Given the description of an element on the screen output the (x, y) to click on. 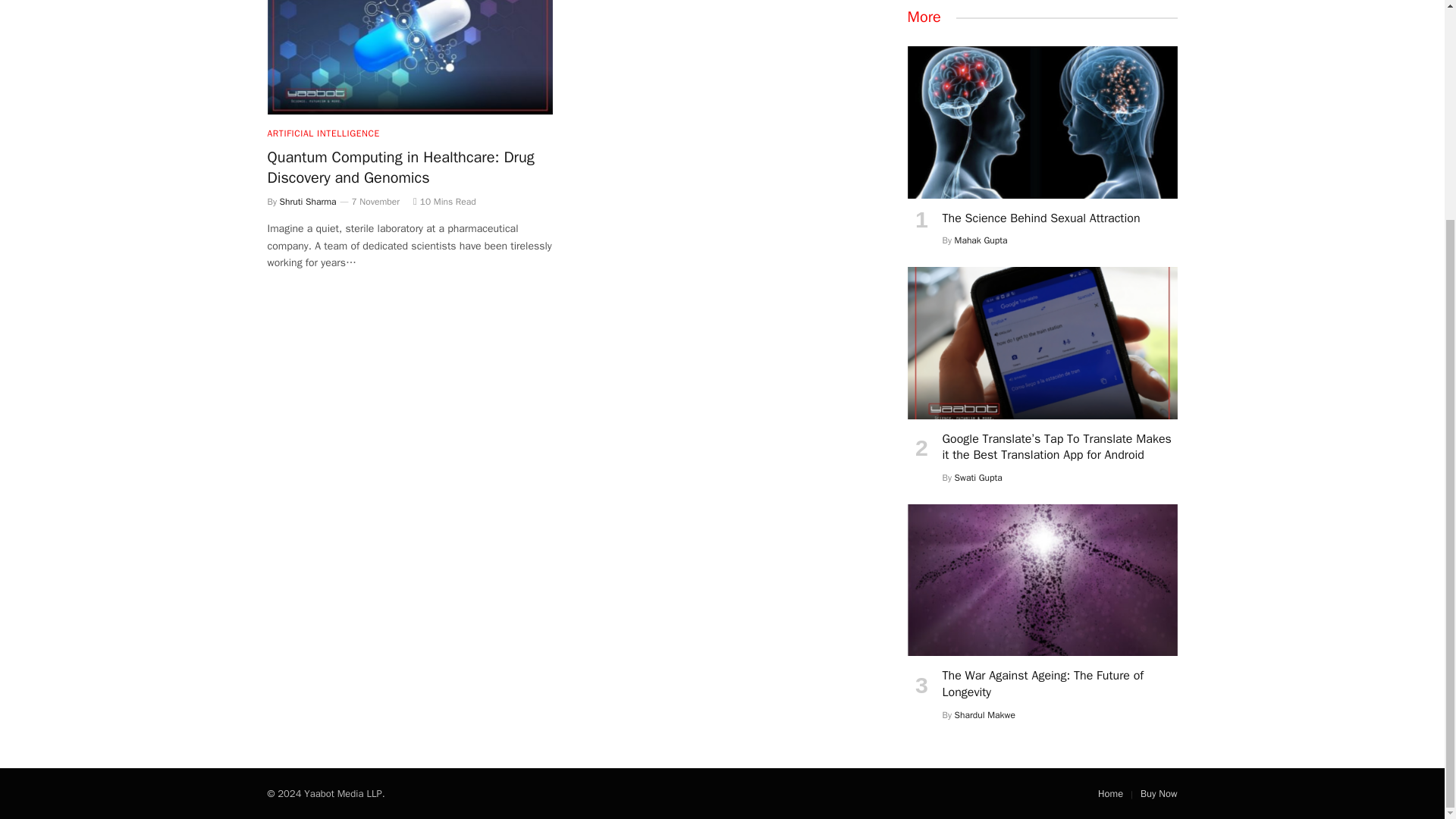
Posts by Mahak Gupta (981, 240)
Posts by Shruti Sharma (307, 201)
The Science Behind Sexual Attraction (1041, 121)
Quantum Computing in Healthcare: Drug Discovery and Genomics (408, 57)
